Given the description of an element on the screen output the (x, y) to click on. 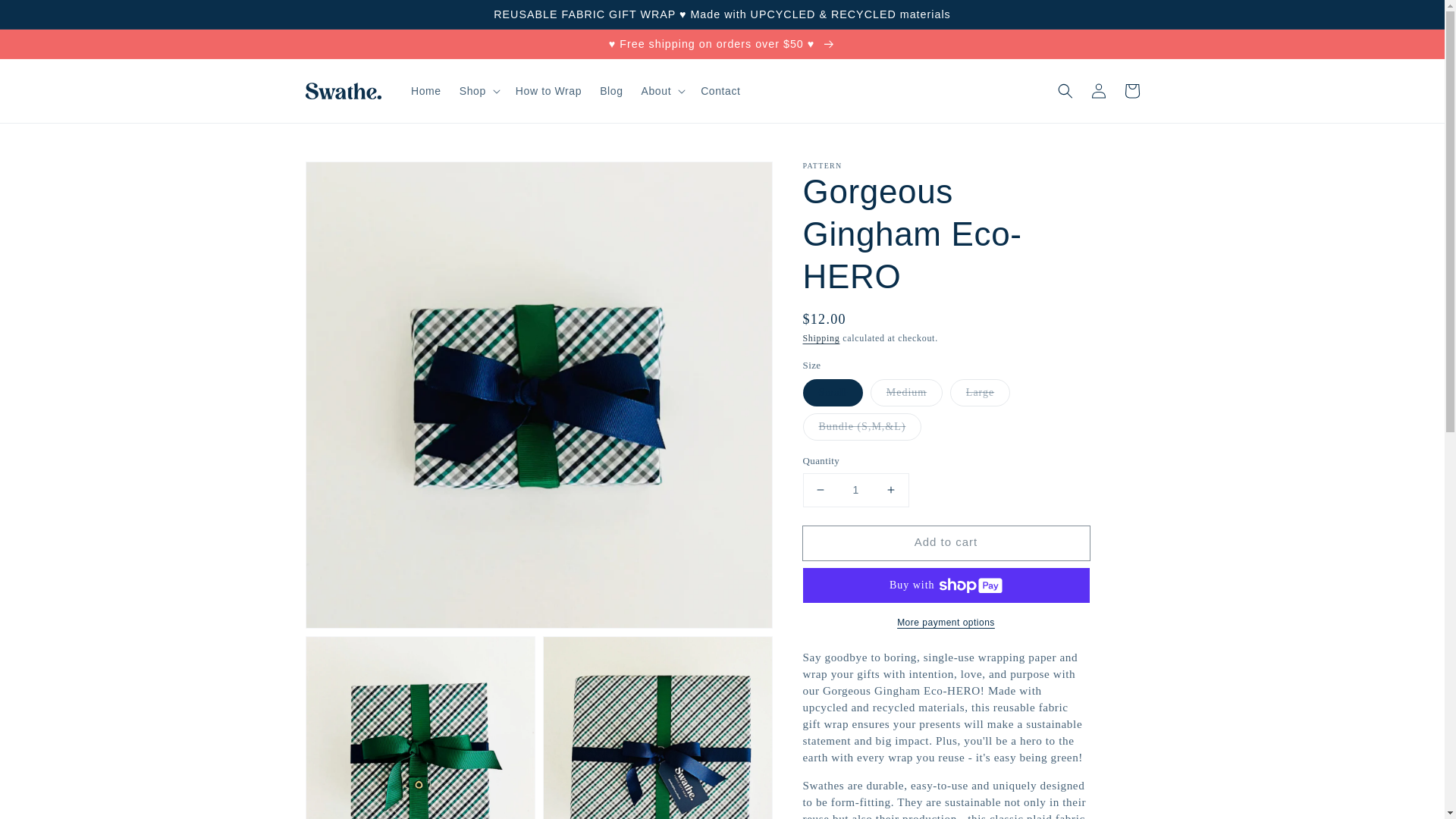
Skip to content (45, 16)
How to Wrap (548, 91)
Home (425, 91)
1 (855, 490)
